Given the description of an element on the screen output the (x, y) to click on. 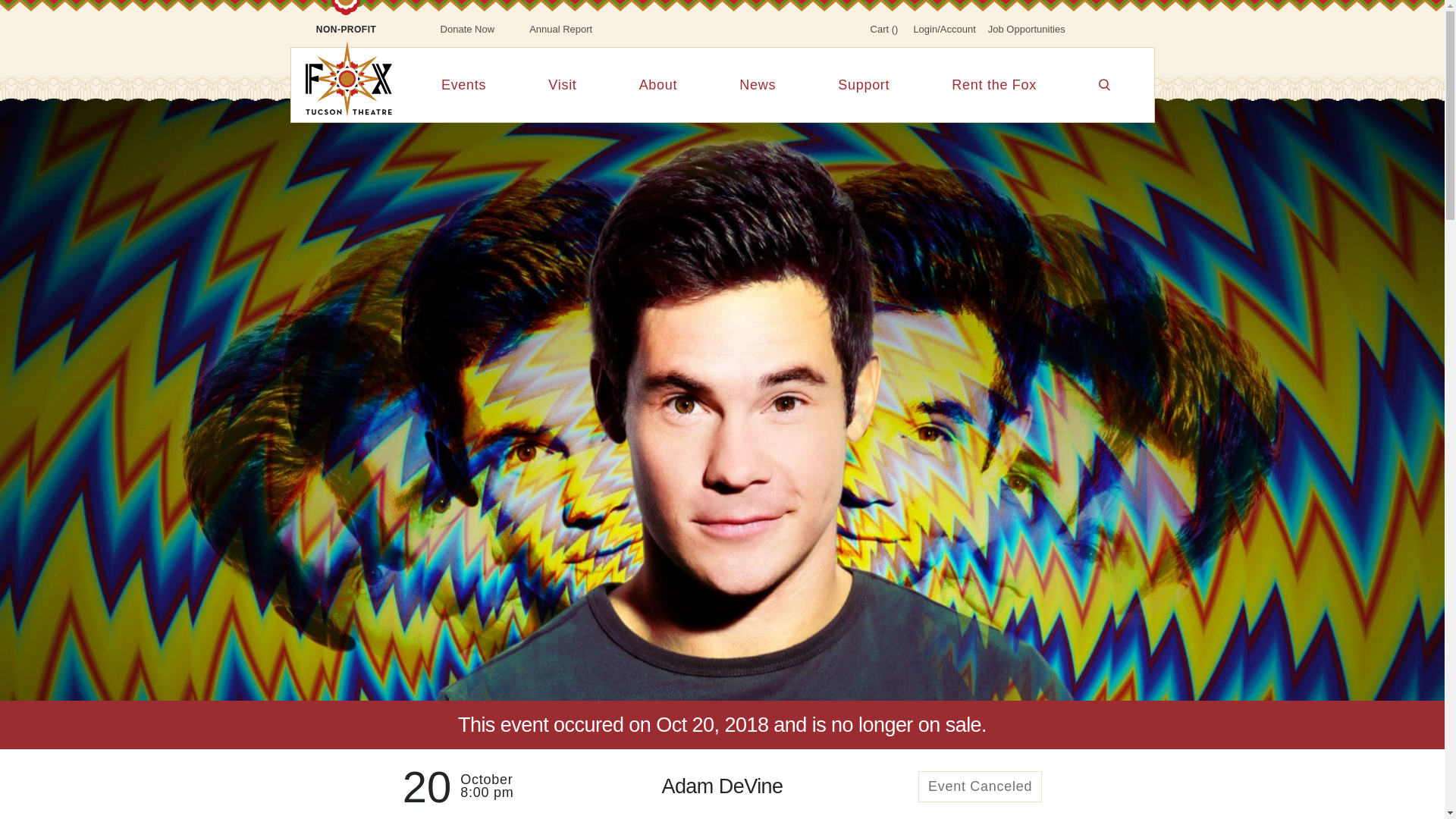
Support (863, 83)
Donate Now (466, 29)
Event Canceled (980, 786)
Events (463, 83)
Job Opportunities (1026, 29)
Visit (561, 83)
About (658, 83)
Job Opportunities (1026, 29)
Events (463, 83)
Rent the Fox (993, 83)
Visit (561, 83)
Support (863, 83)
News (757, 83)
Annual Report (560, 29)
Donate Now (466, 29)
